Given the description of an element on the screen output the (x, y) to click on. 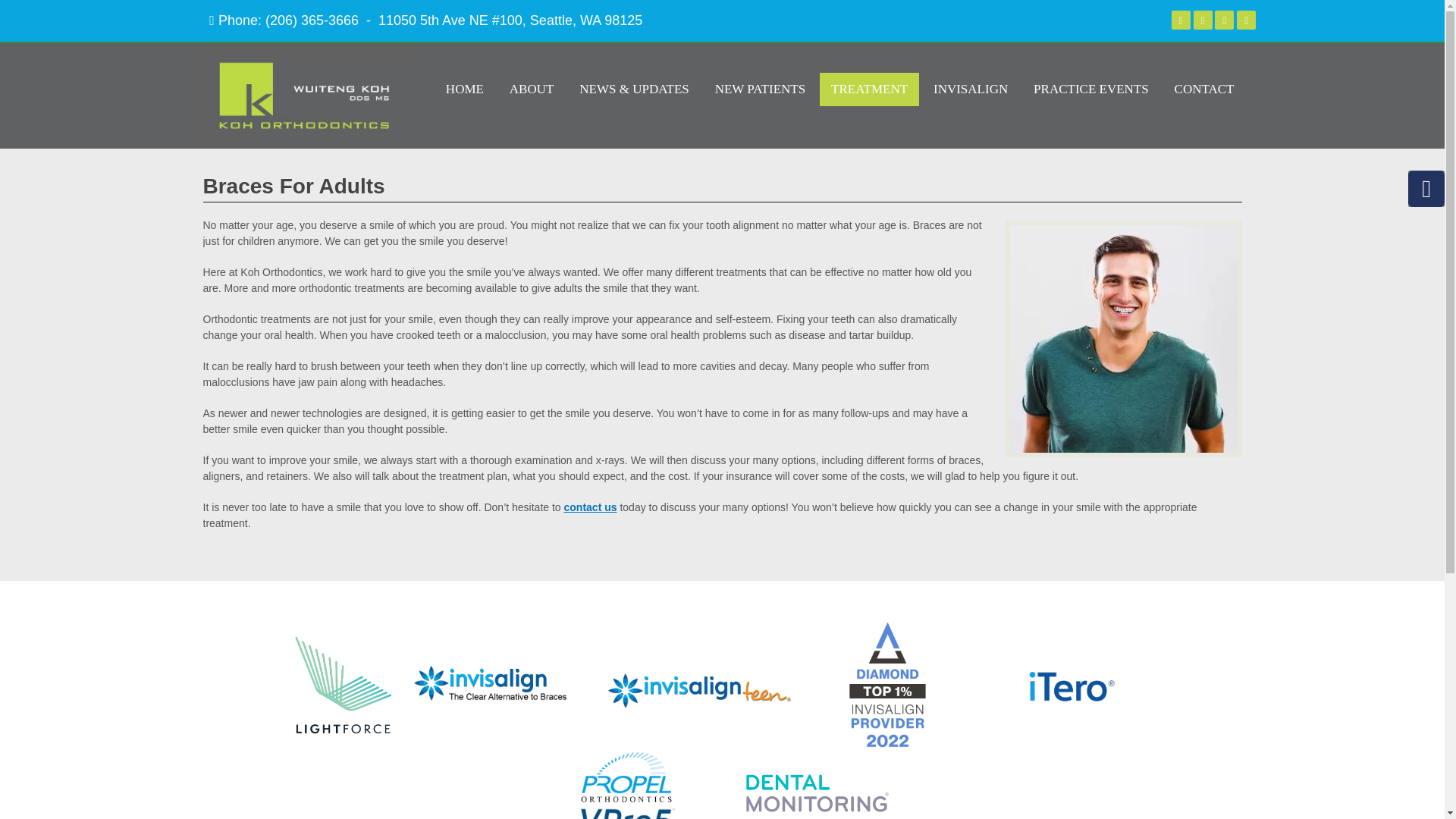
CONTACT (1204, 89)
TREATMENT (868, 89)
NEW PATIENTS (759, 89)
PRACTICE EVENTS (1091, 89)
contact us (590, 507)
INVISALIGN (970, 89)
ABOUT (531, 89)
HOME (464, 89)
